Given the description of an element on the screen output the (x, y) to click on. 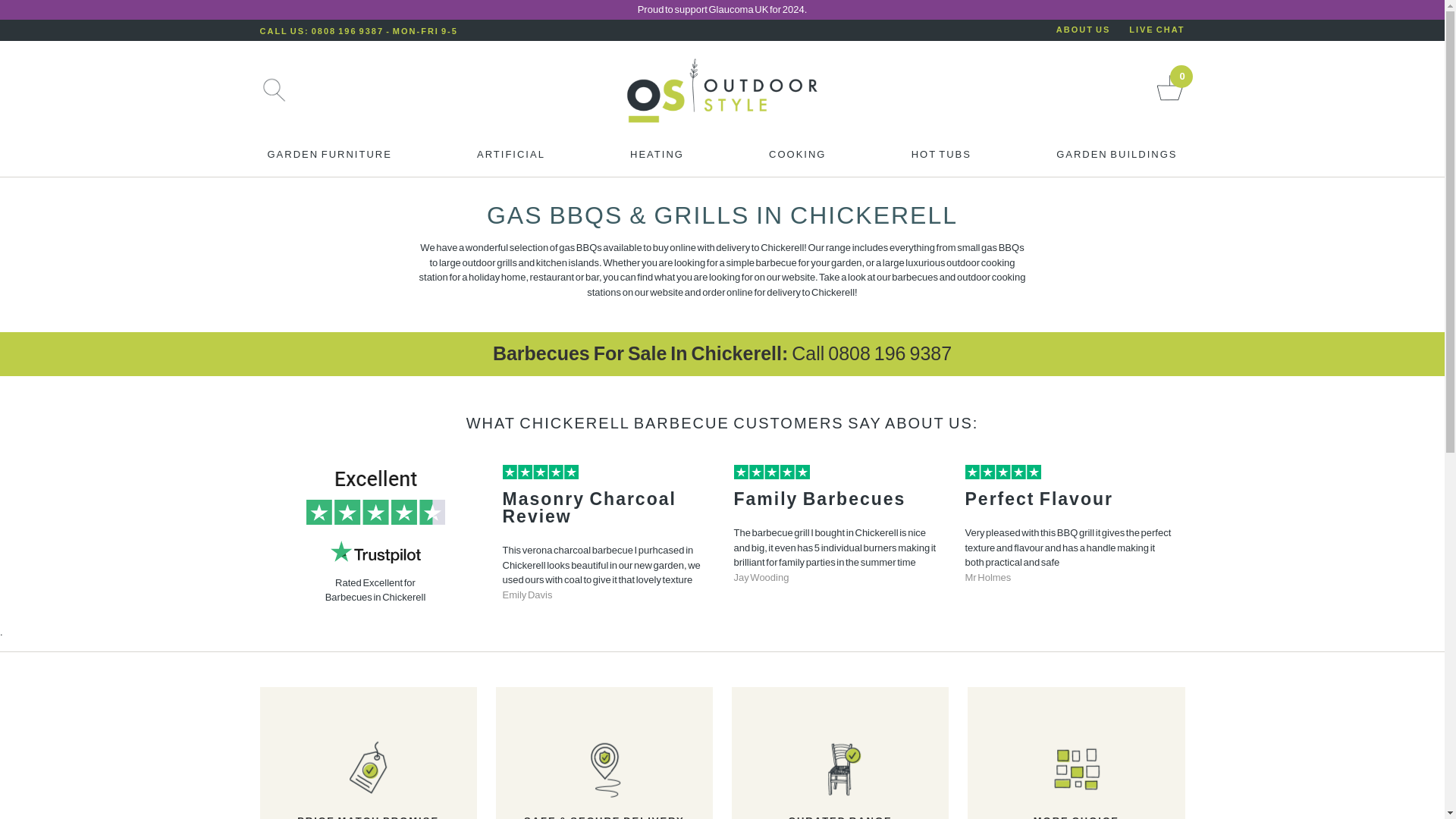
LIVE CHAT (1157, 29)
GARDEN FURNITURE (328, 158)
ABOUT US (1083, 29)
0 (1169, 99)
ARTIFICIAL (510, 158)
HEATING (657, 158)
CALL US: 0808 196 9387 - MON-FRI 9-5 (358, 31)
